Given the description of an element on the screen output the (x, y) to click on. 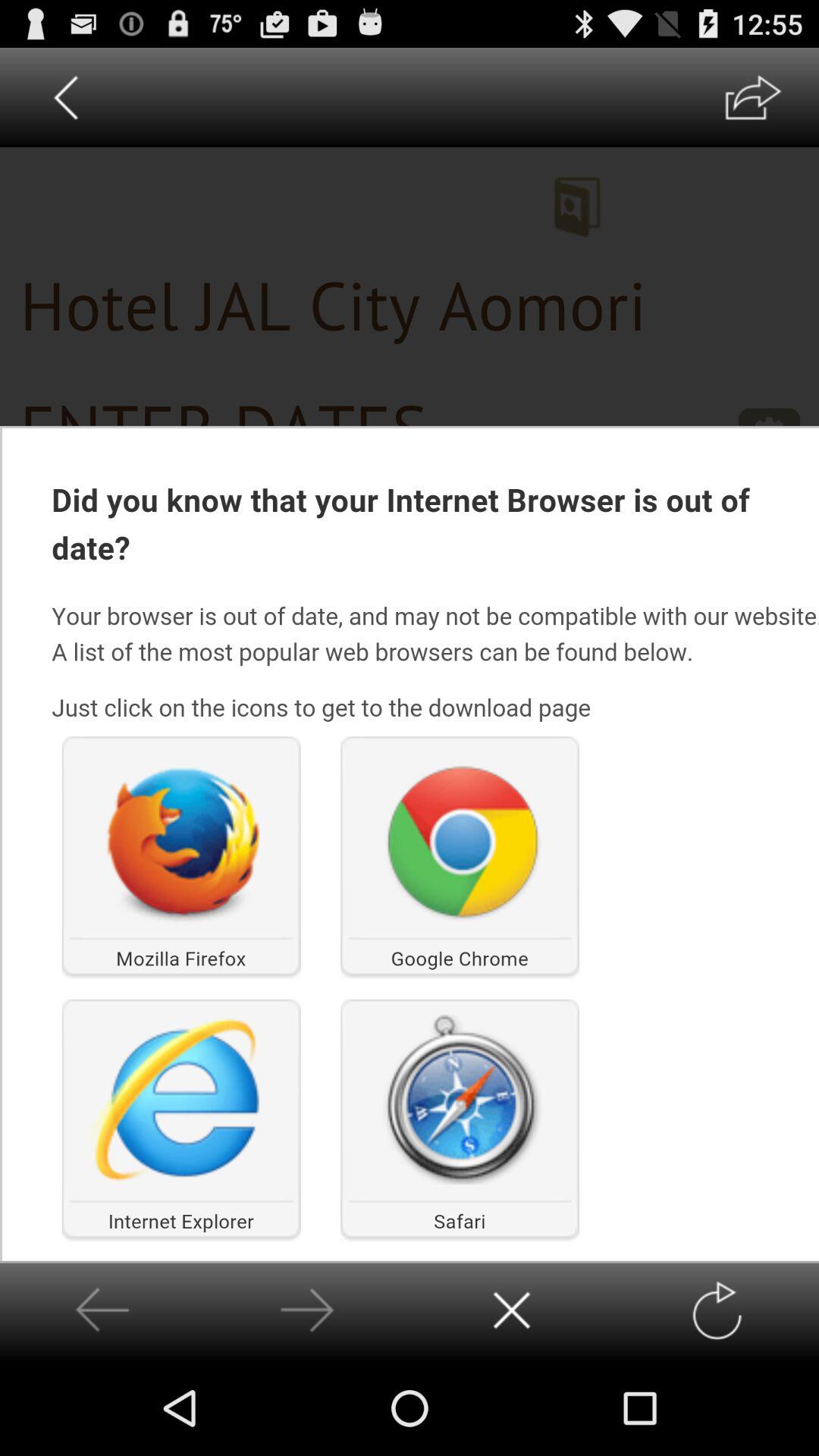
close (511, 1310)
